Given the description of an element on the screen output the (x, y) to click on. 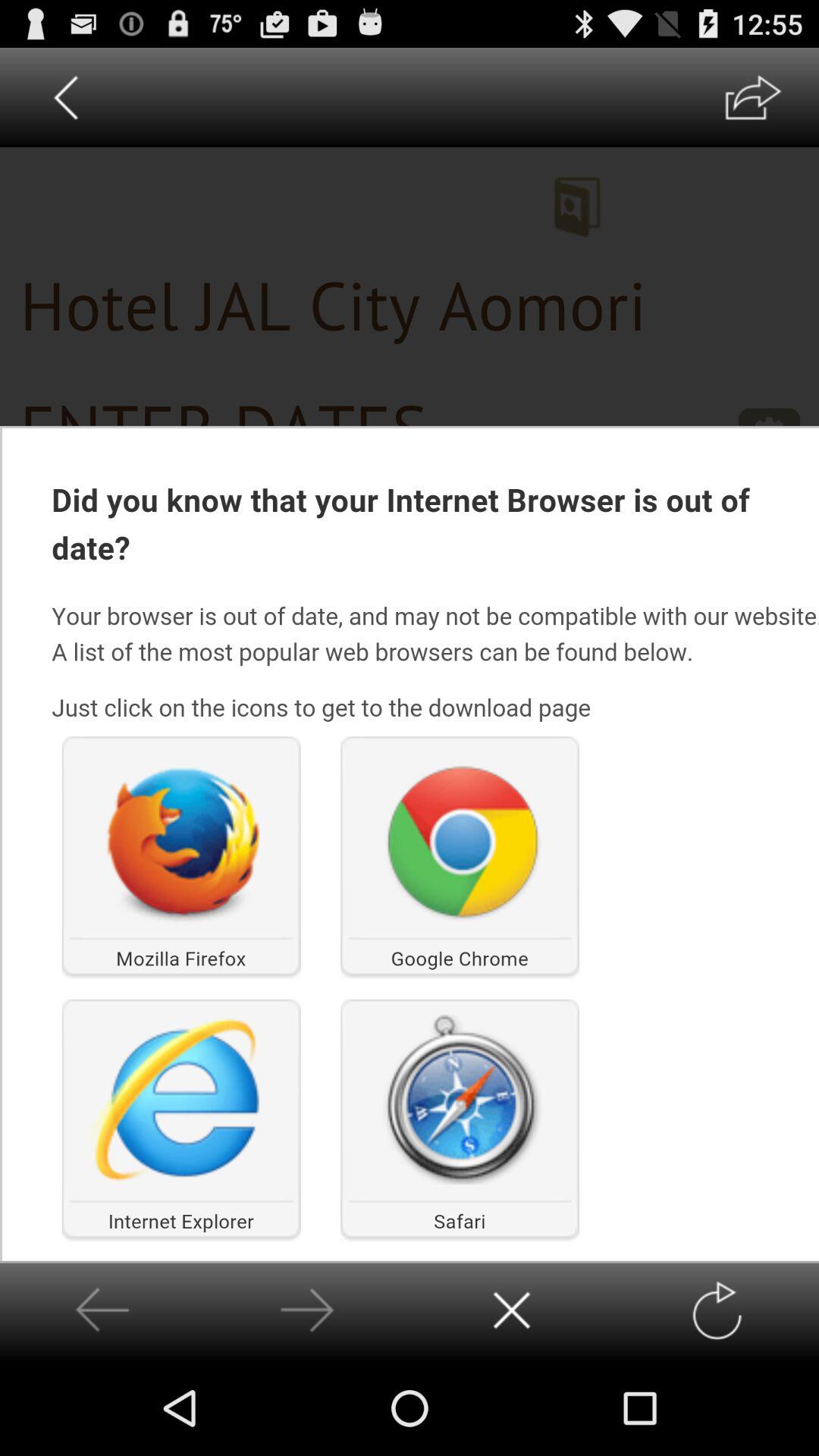
close (511, 1310)
